Given the description of an element on the screen output the (x, y) to click on. 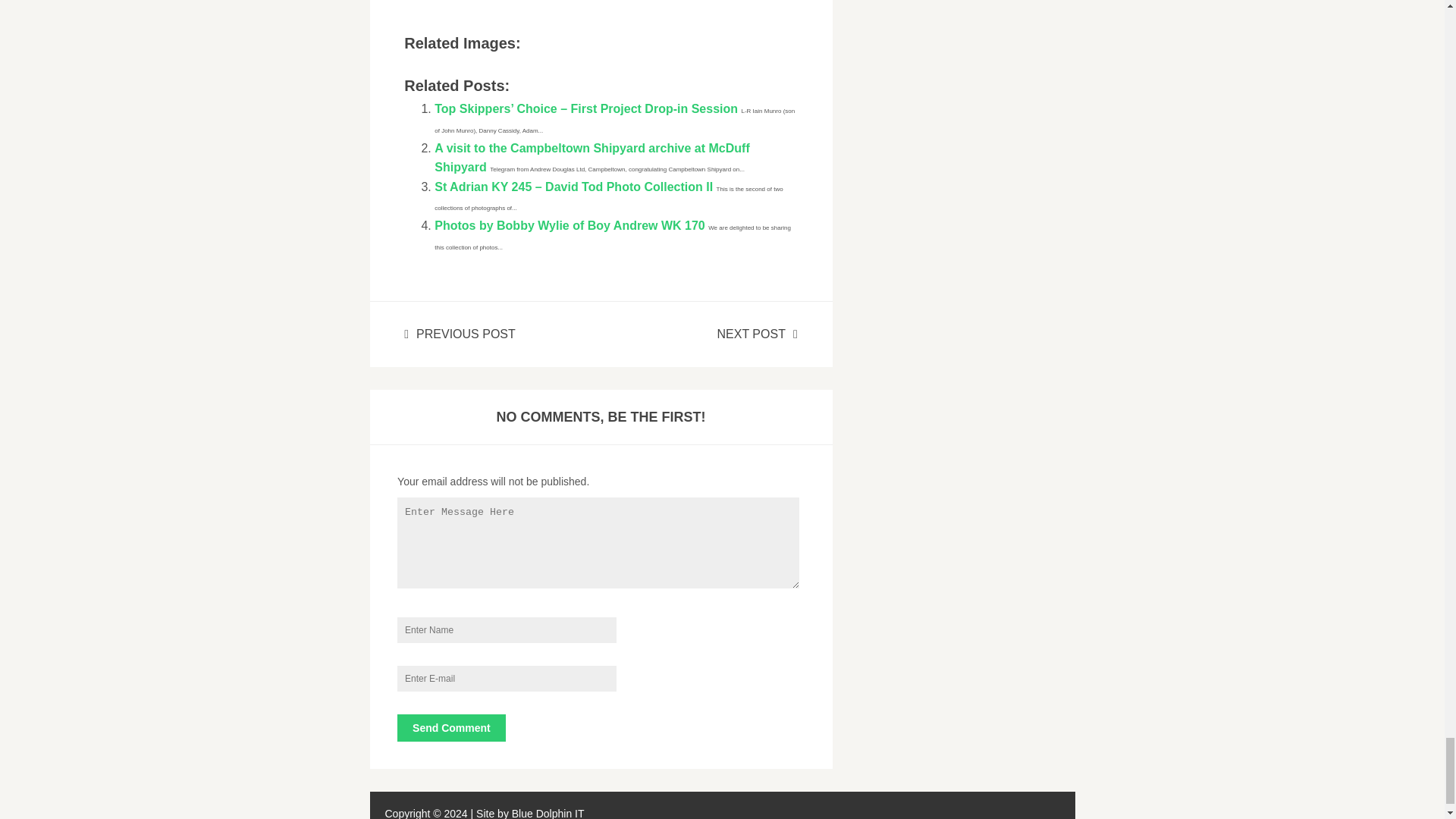
Send Comment (451, 728)
